Given the description of an element on the screen output the (x, y) to click on. 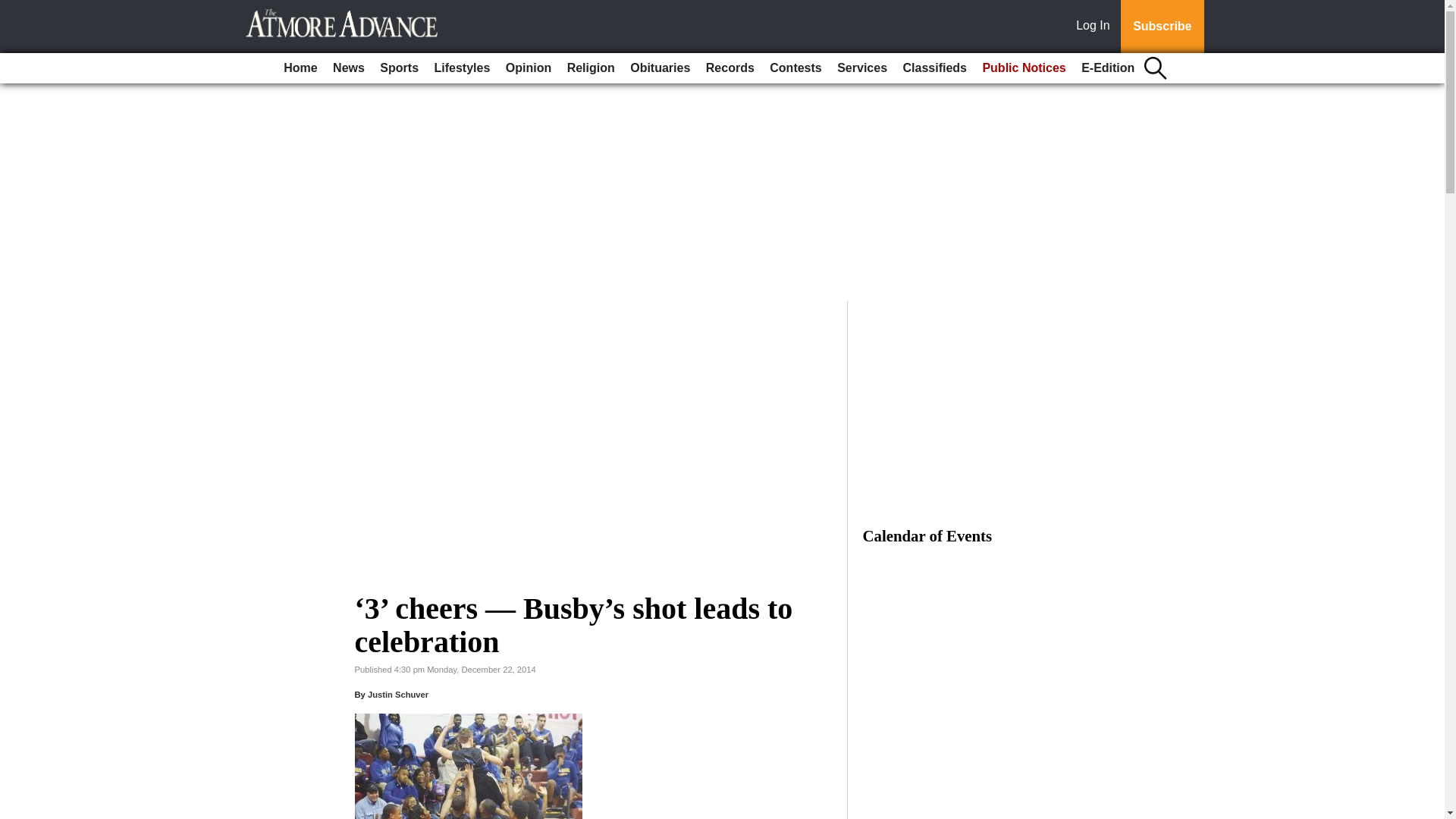
News (348, 68)
Religion (590, 68)
E-Edition (1107, 68)
Records (730, 68)
Go (13, 9)
Lifestyles (462, 68)
Obituaries (659, 68)
Home (300, 68)
Sports (399, 68)
Subscribe (1162, 26)
Public Notices (1023, 68)
Opinion (528, 68)
Classifieds (934, 68)
Log In (1095, 26)
Services (862, 68)
